Given the description of an element on the screen output the (x, y) to click on. 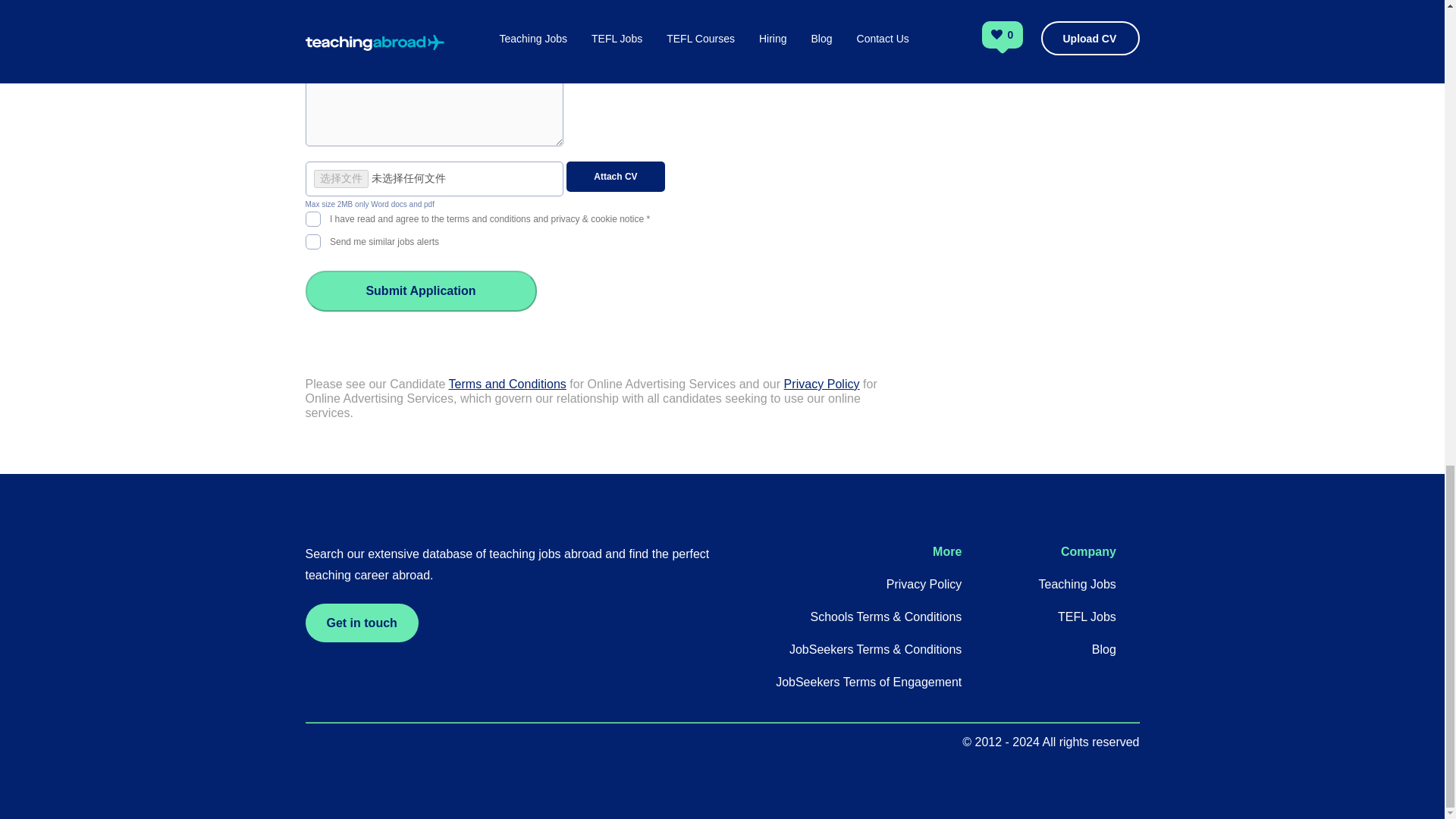
Privacy Policy (822, 383)
Blog (1104, 649)
JobSeekers Terms of Engagement (868, 681)
Get in touch (360, 622)
Submit Application (419, 291)
TEFL Jobs (1087, 616)
Privacy Policy (924, 584)
Terms and Conditions (507, 383)
Please see our Candidate (376, 383)
on (312, 239)
